Given the description of an element on the screen output the (x, y) to click on. 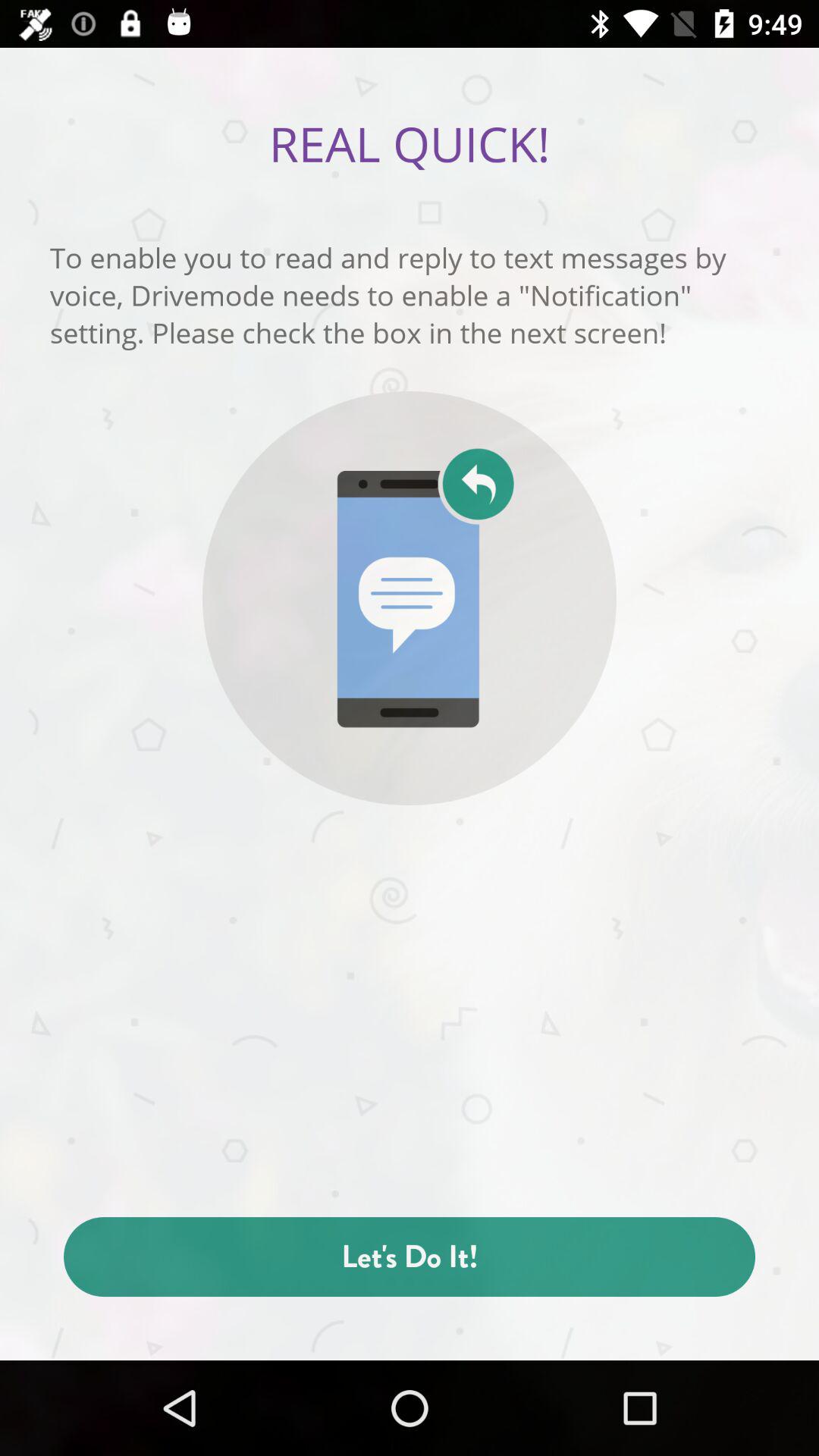
launch let s do (409, 1256)
